Given the description of an element on the screen output the (x, y) to click on. 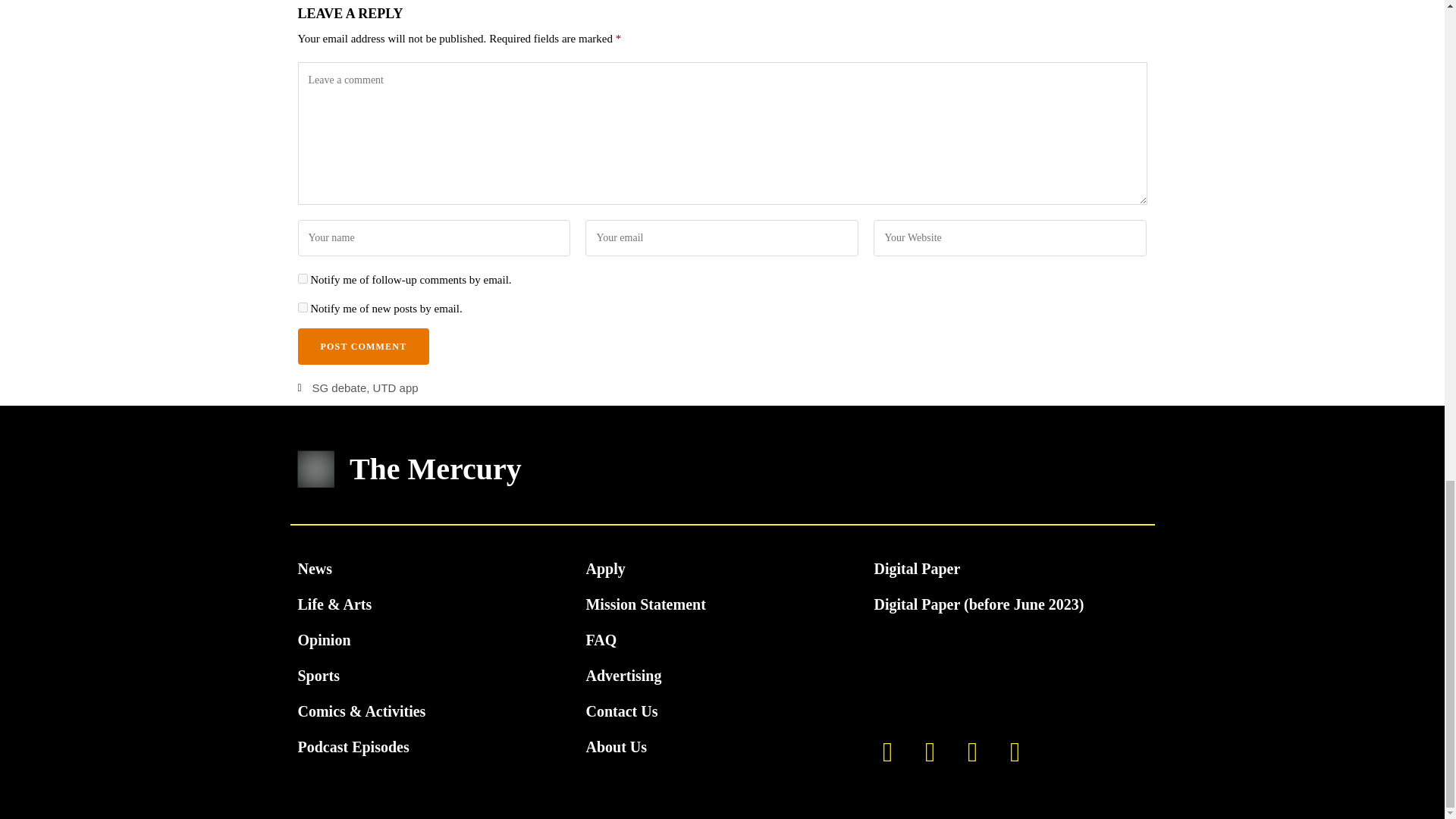
subscribe (302, 278)
Post Comment (363, 346)
subscribe (302, 307)
